Given the description of an element on the screen output the (x, y) to click on. 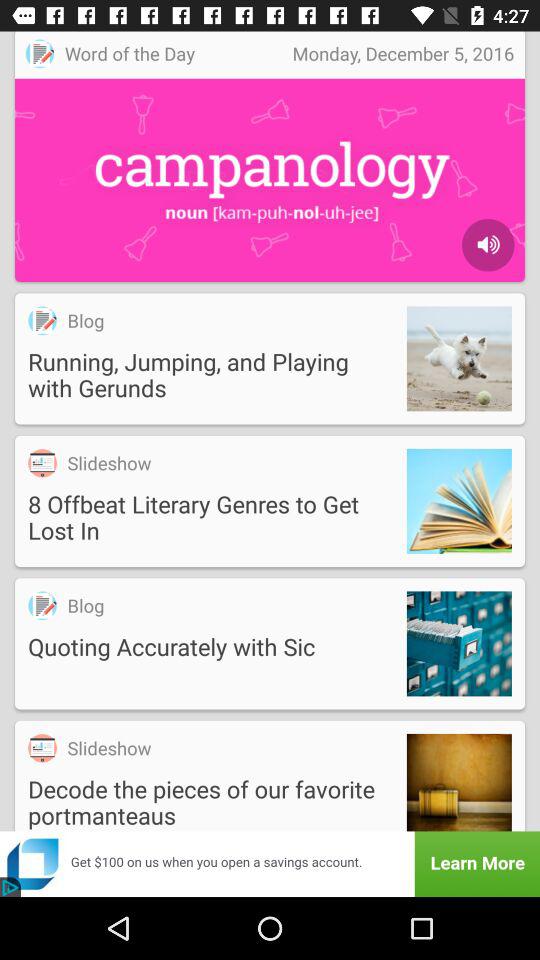
get 100 on us when you open a savings account learn more (270, 864)
